Given the description of an element on the screen output the (x, y) to click on. 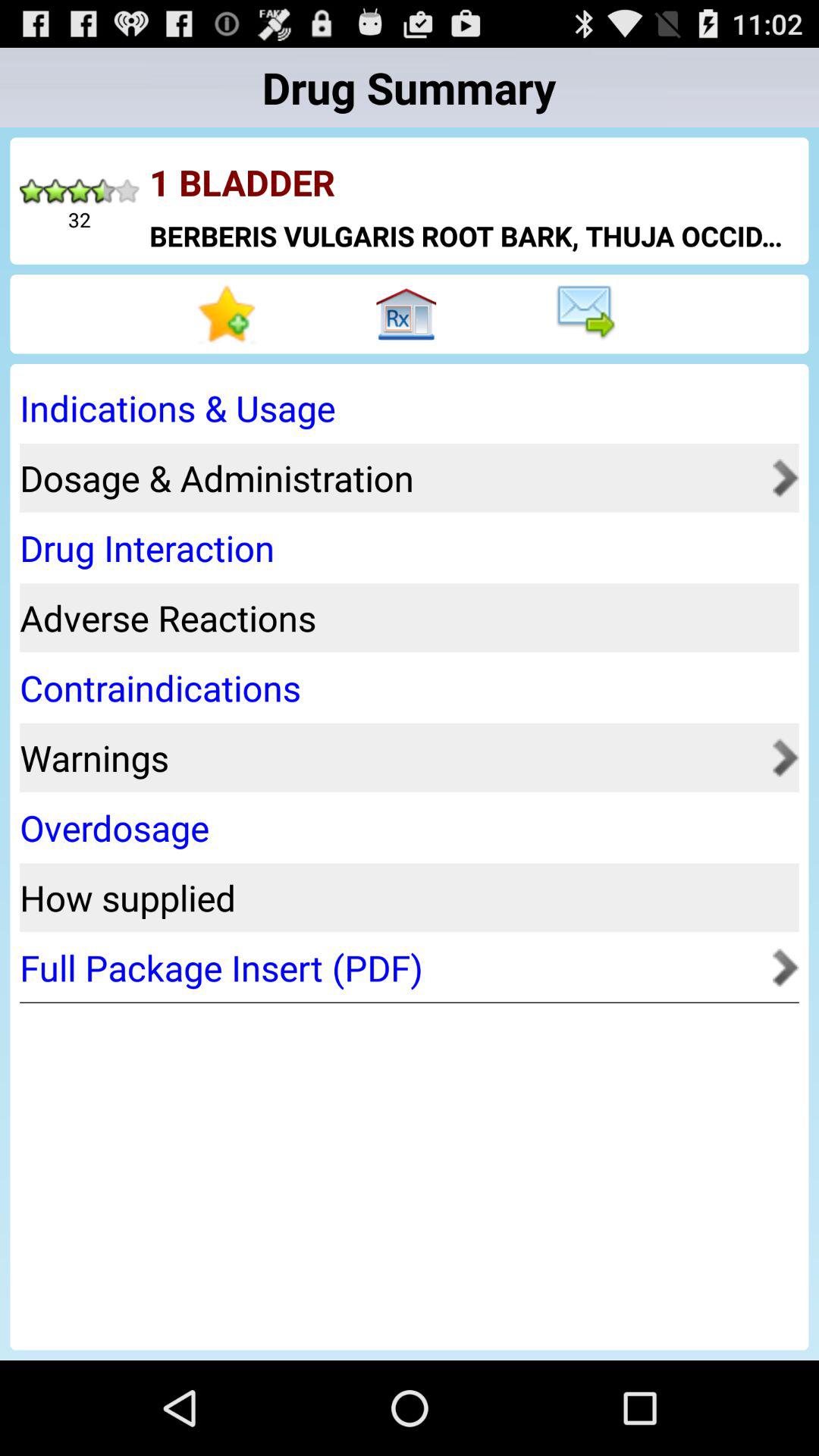
press the dosage & administration item (390, 477)
